Given the description of an element on the screen output the (x, y) to click on. 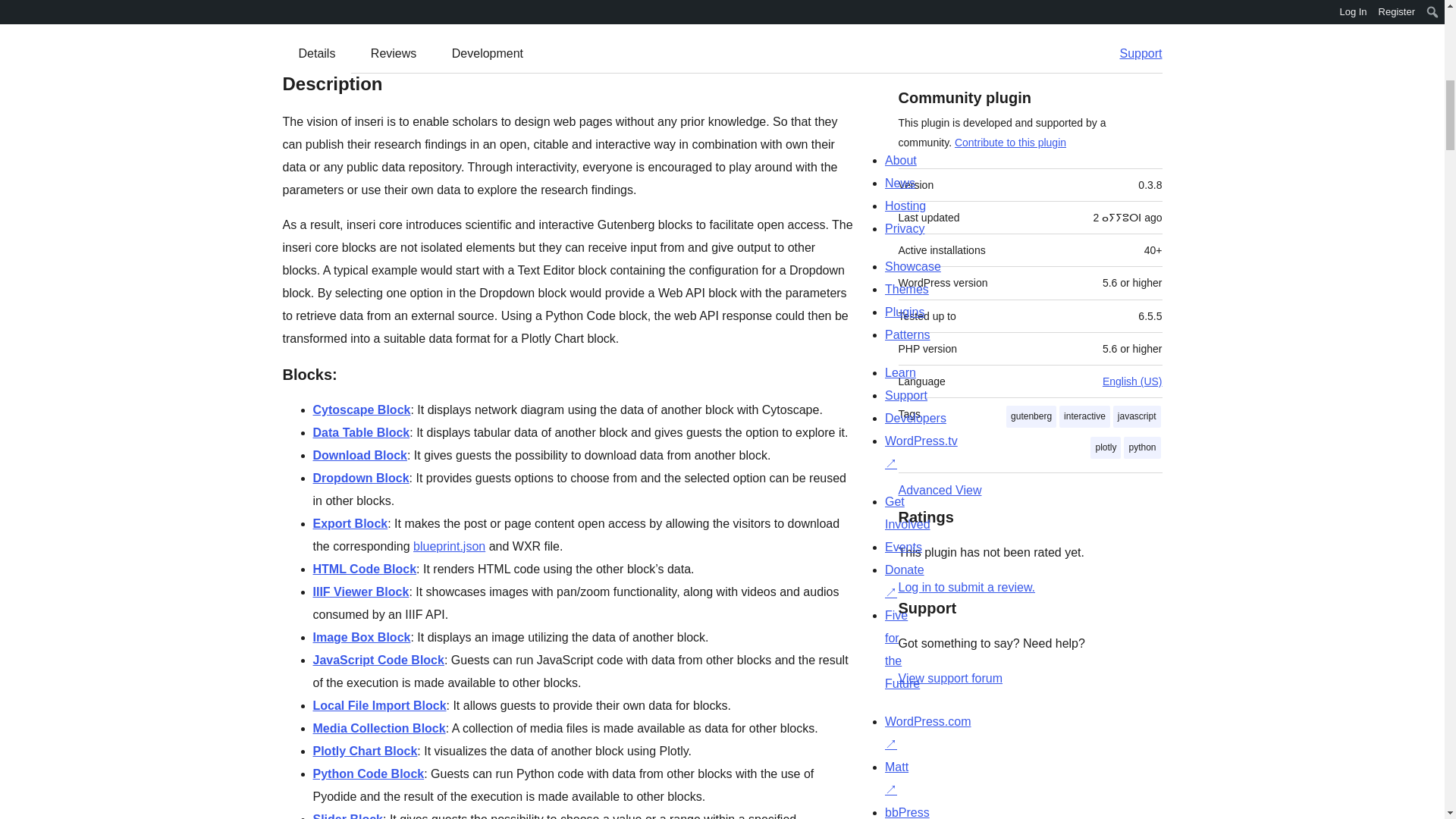
Cytoscape Block (361, 409)
IIIF Viewer Block (361, 591)
HTML Code Block (364, 568)
Download Block (359, 454)
Reviews (392, 53)
Development (487, 53)
blueprint.json (448, 545)
Export Block (350, 522)
Log in to WordPress.org (966, 586)
Details (316, 53)
